Given the description of an element on the screen output the (x, y) to click on. 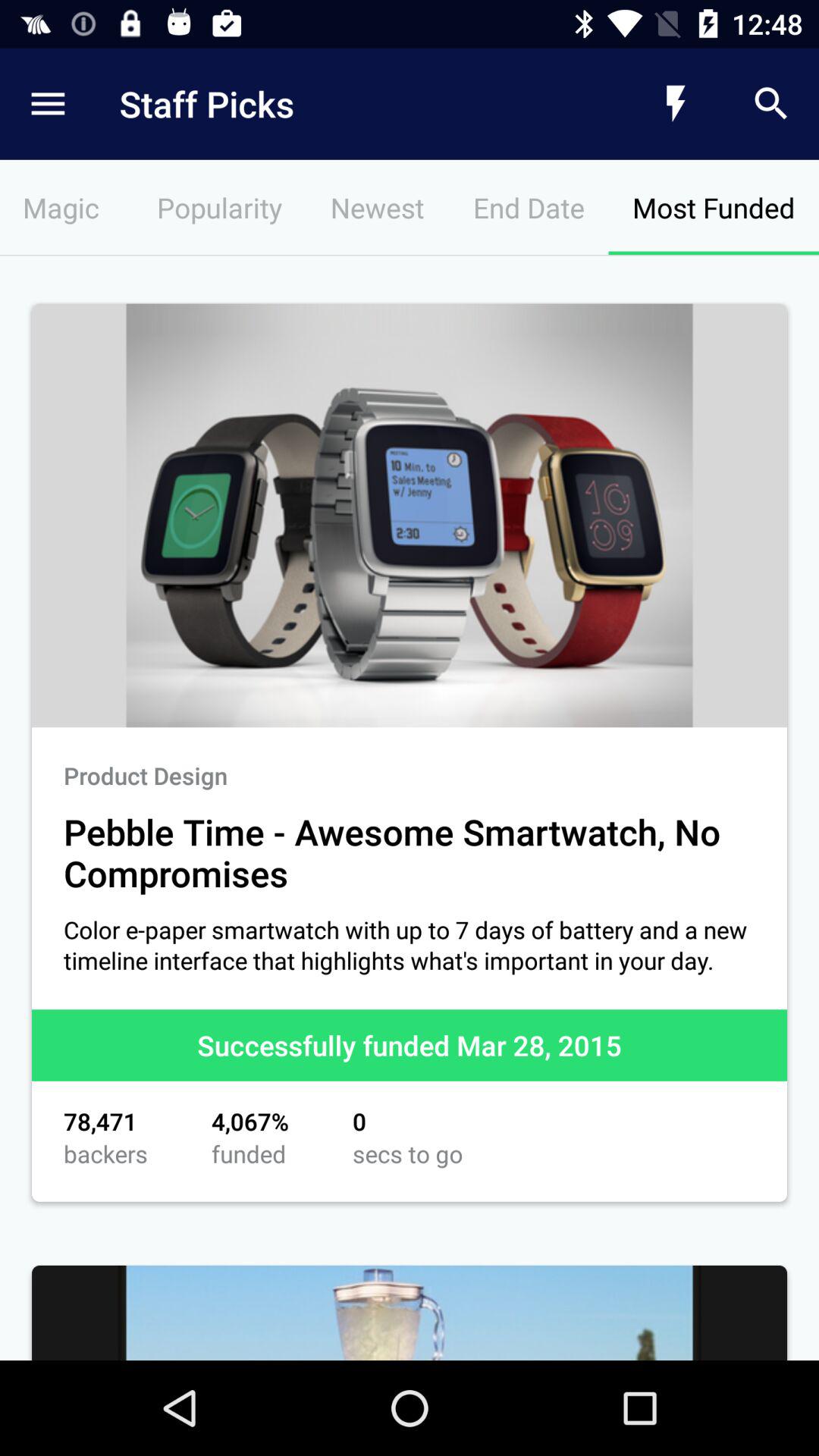
open icon above the most funded icon (675, 103)
